Given the description of an element on the screen output the (x, y) to click on. 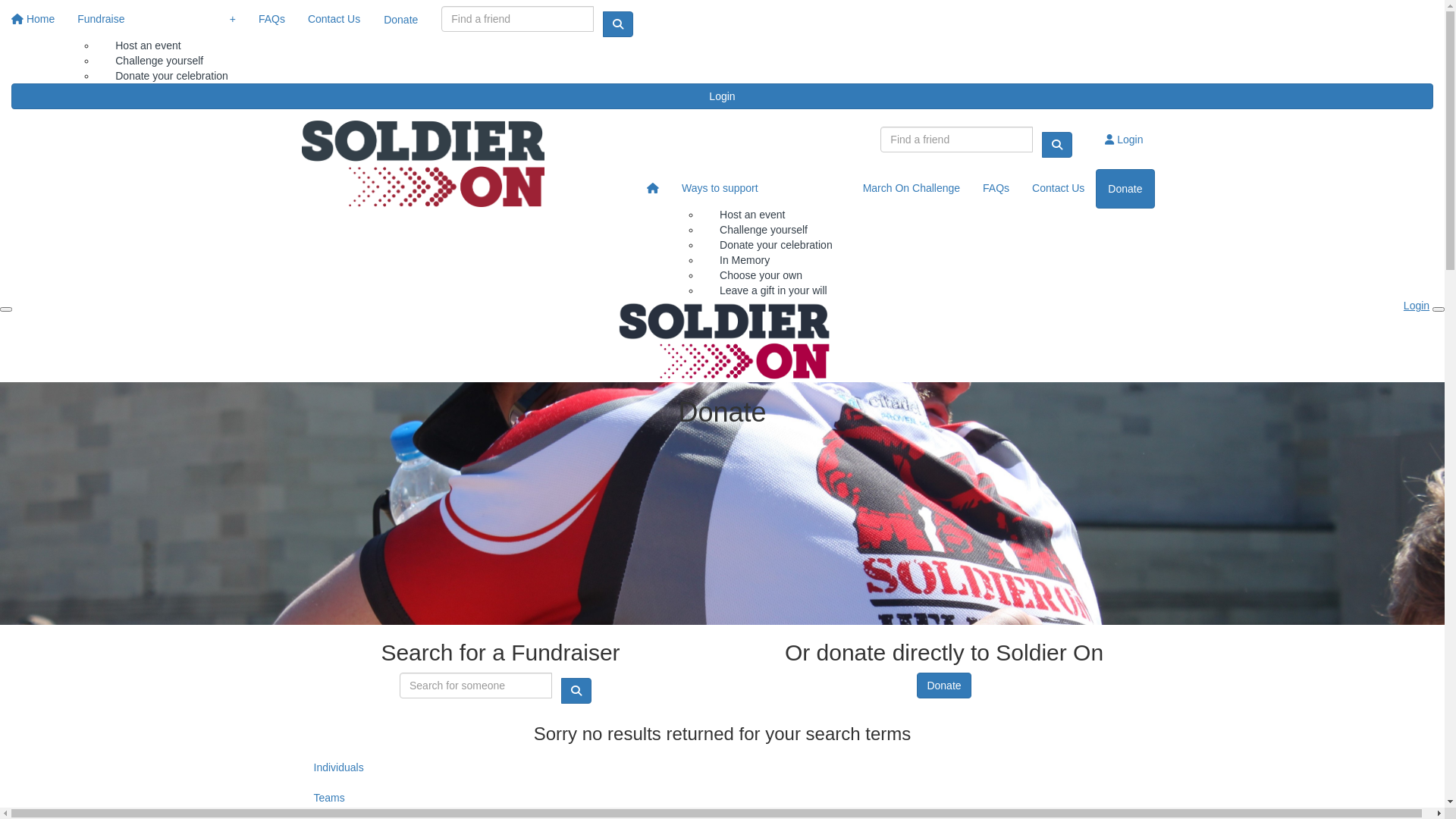
Teams Element type: text (732, 797)
Leave a gift in your will Element type: text (773, 299)
March On Challenge Element type: text (911, 188)
Donate Element type: text (943, 685)
Login Element type: text (722, 96)
Donate your celebration Element type: text (171, 84)
Ways to support Element type: text (760, 188)
Contact Us Element type: text (1057, 188)
Contact Us Element type: text (333, 18)
FAQs Element type: text (271, 18)
Donate your celebration Element type: text (775, 244)
Challenge yourself Element type: text (159, 60)
Choose your own Element type: text (760, 275)
FAQs Element type: text (995, 188)
Individuals Element type: text (732, 767)
Host an event Element type: text (147, 35)
Donate Element type: text (1124, 188)
Login Element type: text (1123, 139)
Host an event Element type: text (751, 204)
Login Element type: text (1416, 305)
Fundraise
+ Element type: text (156, 18)
In Memory Element type: text (744, 260)
Donate Element type: text (400, 19)
Home Element type: text (32, 18)
Challenge yourself Element type: text (763, 229)
